Given the description of an element on the screen output the (x, y) to click on. 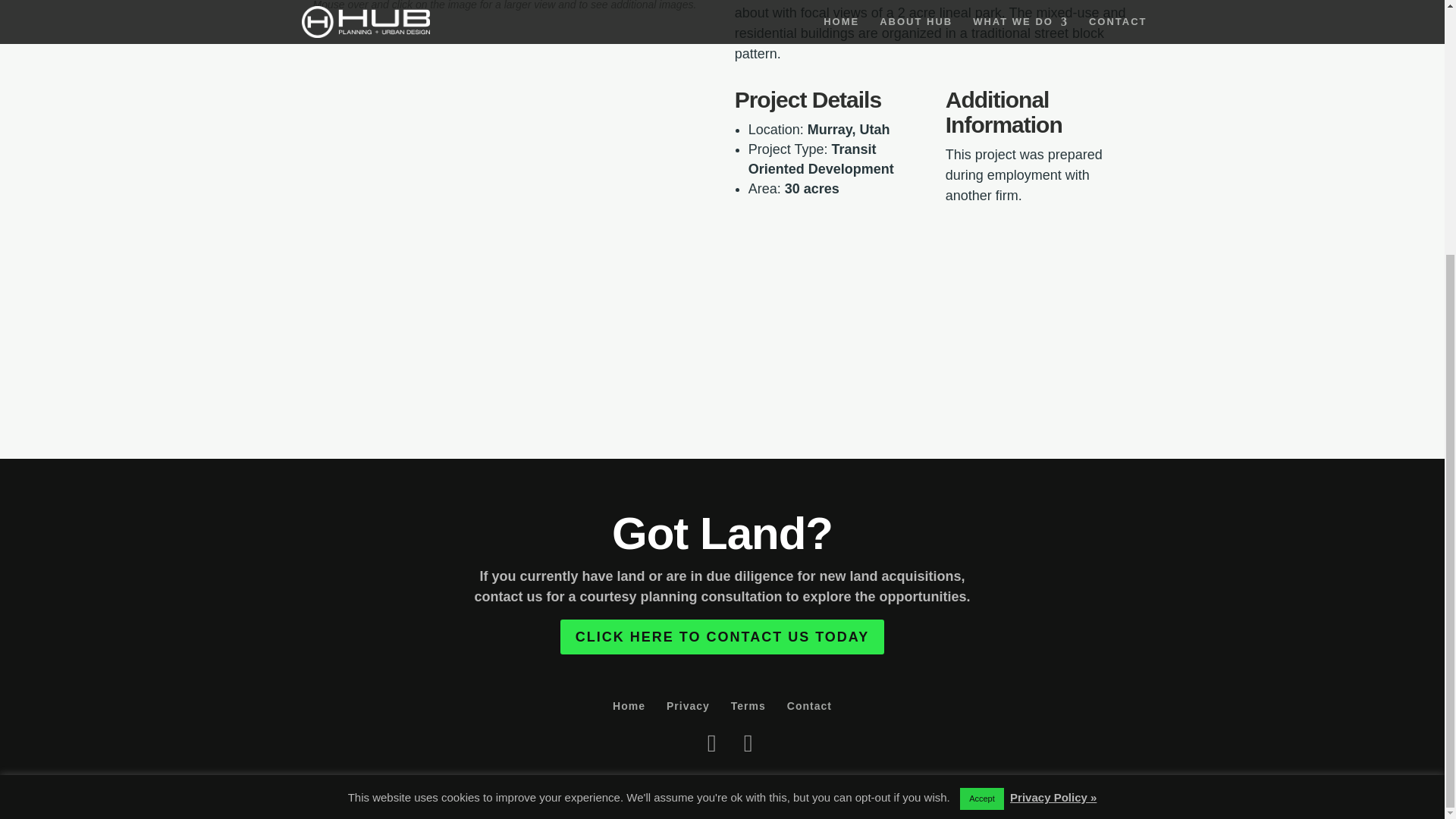
Contact (809, 705)
Privacy (688, 705)
CLICK HERE TO CONTACT US TODAY (721, 636)
Jason Samadhi (883, 780)
Home (628, 705)
Terms (747, 705)
Accept (981, 438)
